Given the description of an element on the screen output the (x, y) to click on. 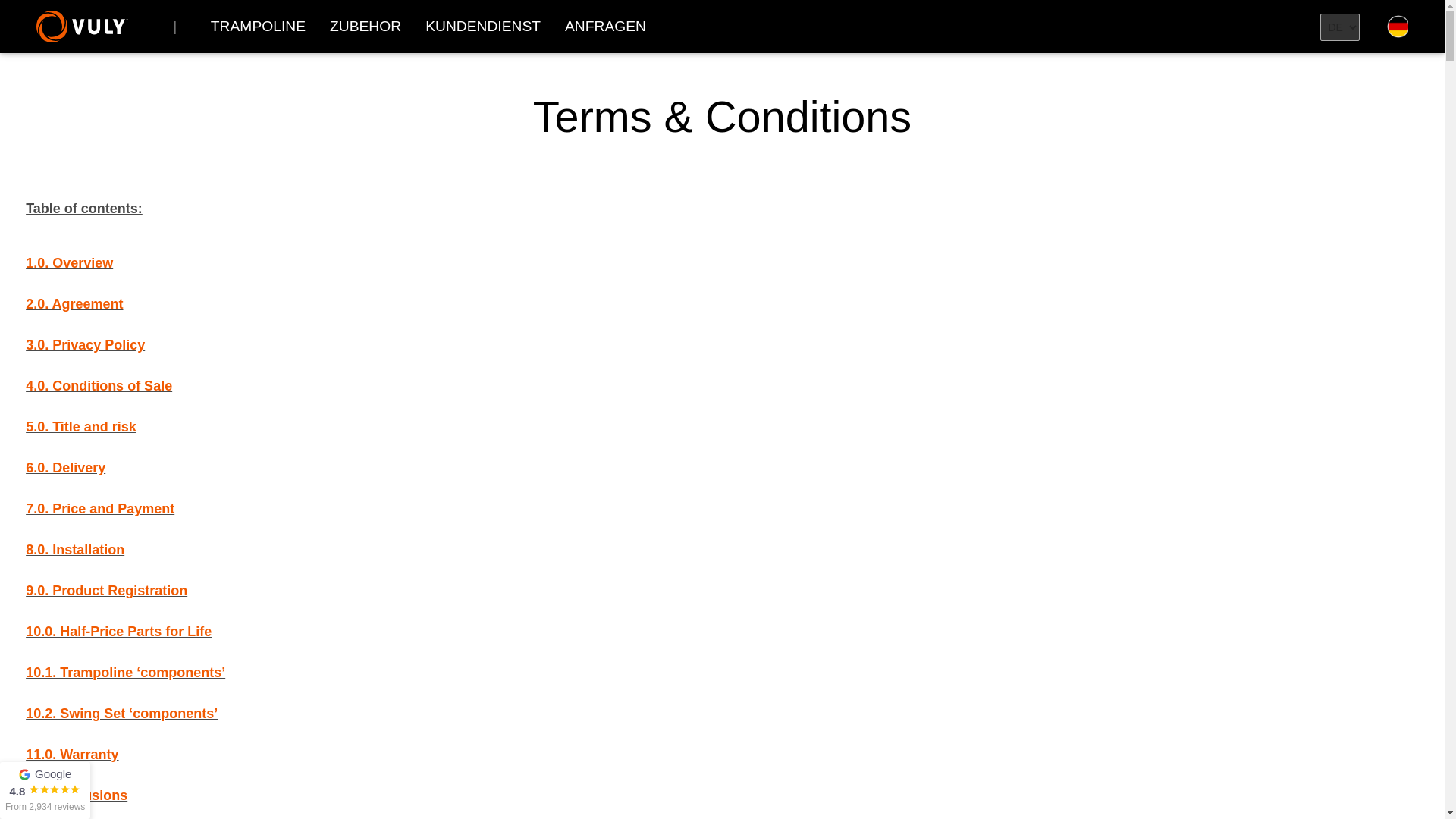
9.0. Product Registration (106, 590)
10.0. Half-Price Parts for Life (118, 631)
6.0. Delivery (65, 467)
ZUBEHOR (365, 26)
11.2. Inclusions (77, 795)
4.0. Conditions of Sale (98, 385)
KUNDENDIENST (483, 26)
ANFRAGEN (605, 26)
5.0. Title and risk (81, 426)
1.0. Overview (69, 263)
7.0. Price and Payment (100, 508)
11.0. Warranty (71, 754)
TRAMPOLINE (257, 26)
2.0. Agreement (74, 304)
3.0. Privacy Policy (85, 344)
